Given the description of an element on the screen output the (x, y) to click on. 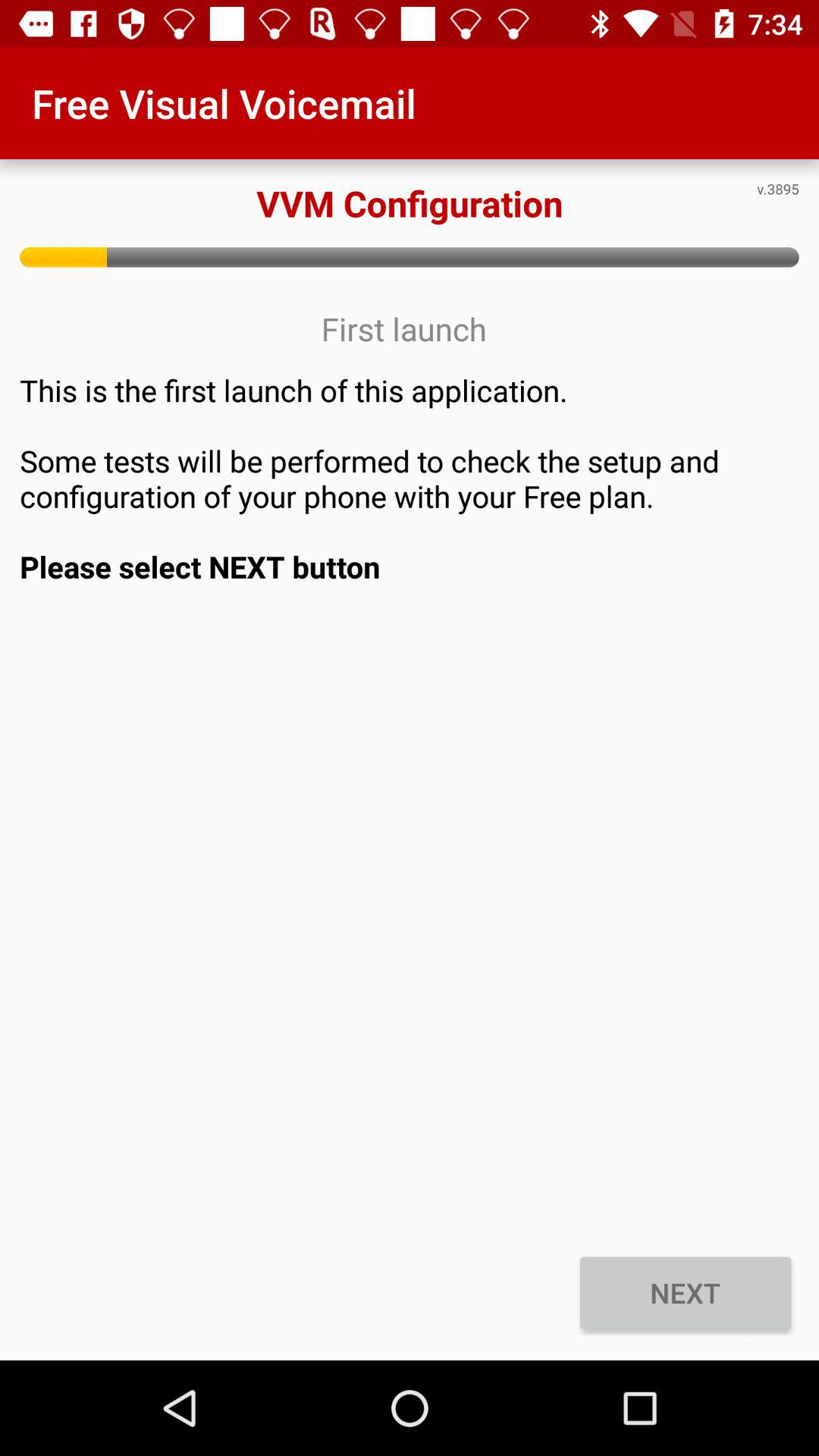
launch the item at the bottom right corner (685, 1292)
